Given the description of an element on the screen output the (x, y) to click on. 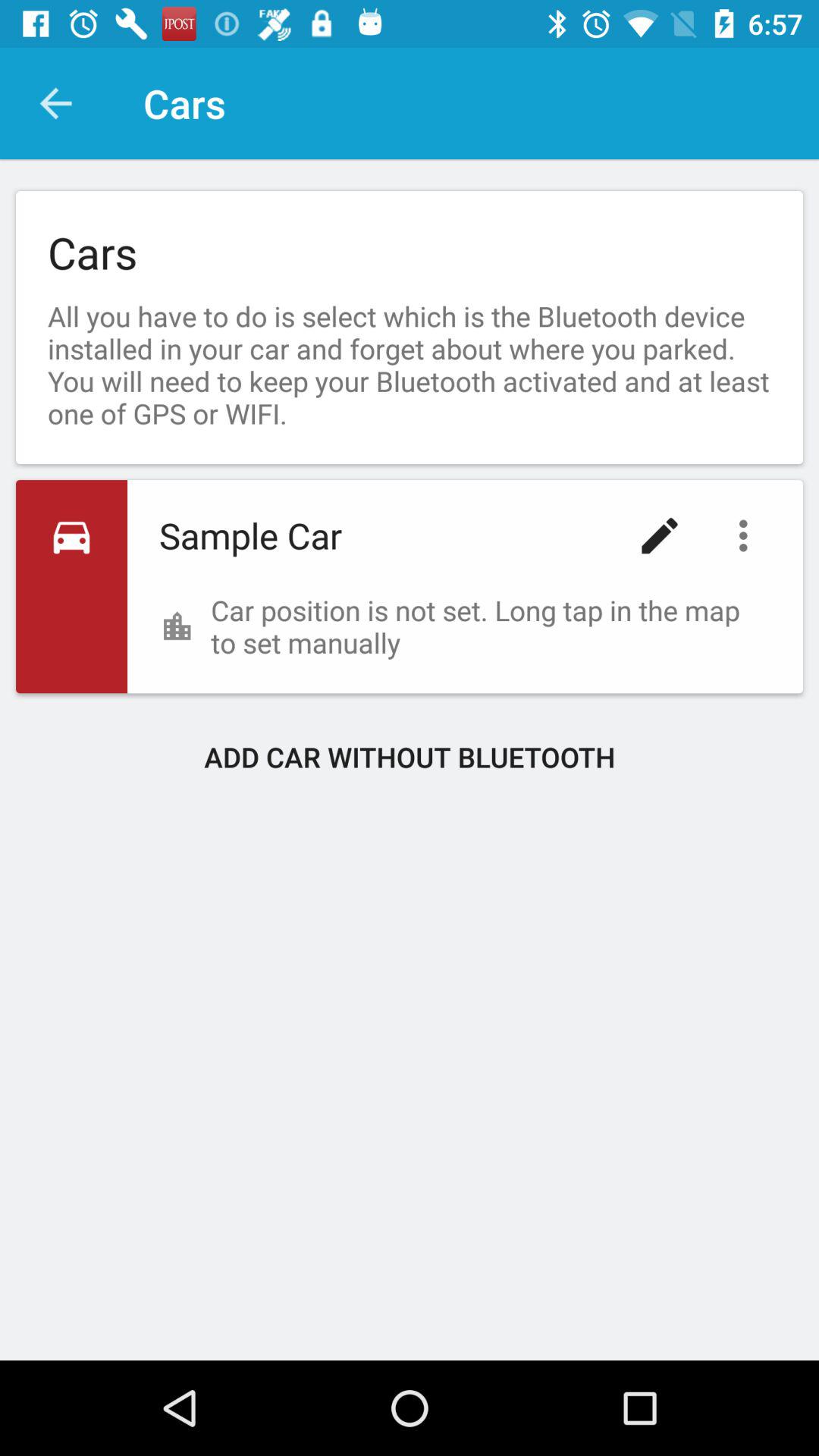
click the icon above car position is icon (747, 535)
